Given the description of an element on the screen output the (x, y) to click on. 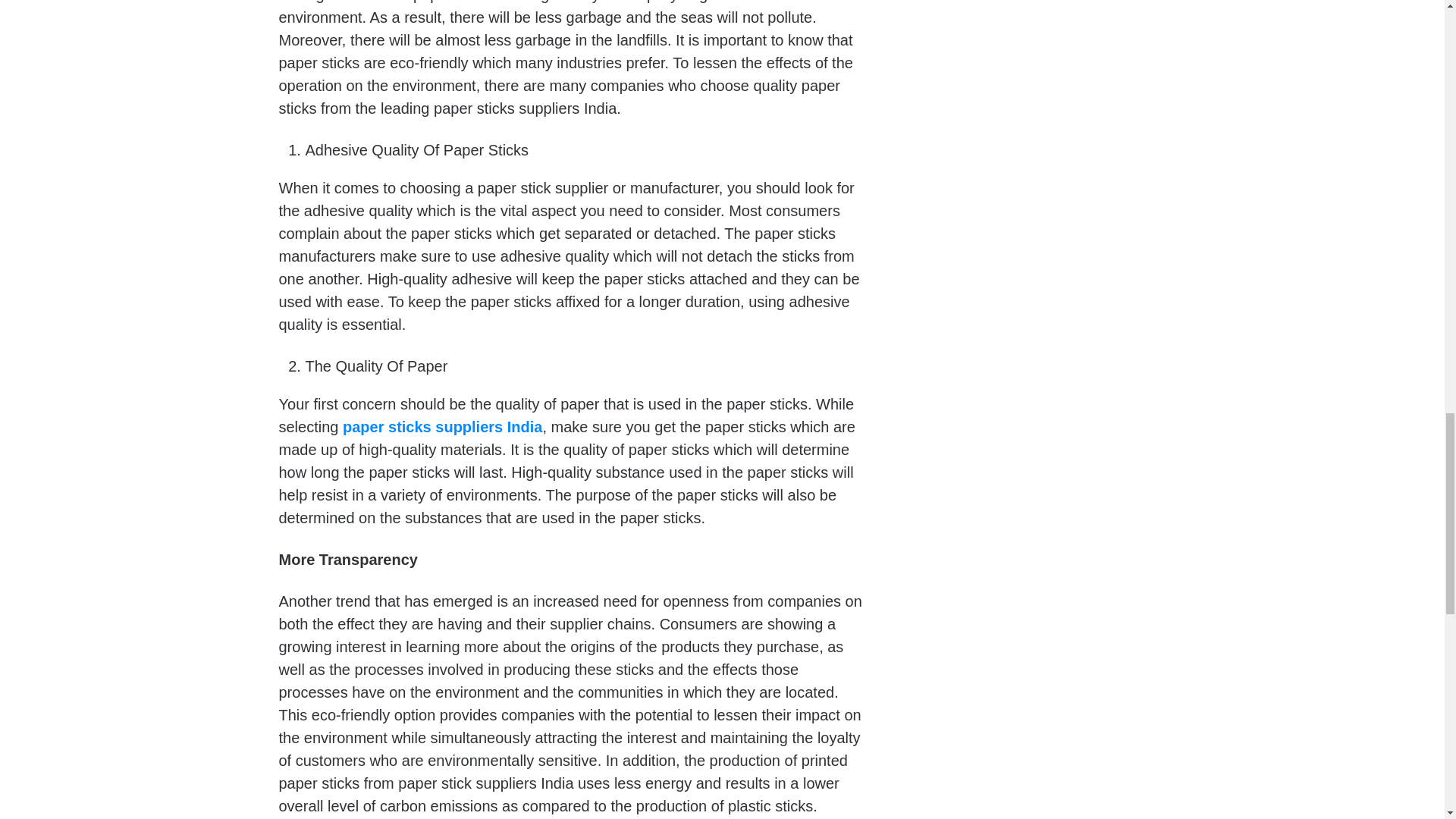
paper sticks suppliers India (441, 426)
